Given the description of an element on the screen output the (x, y) to click on. 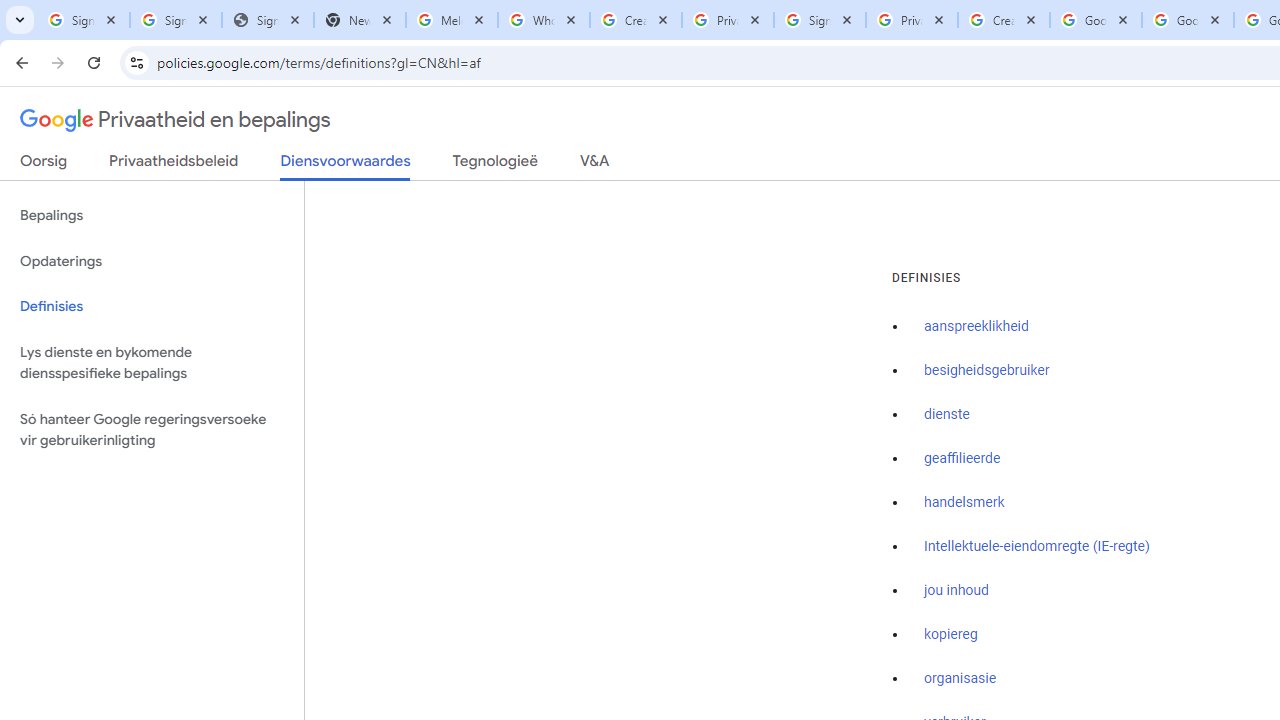
besigheidsgebruiker (986, 371)
kopiereg (950, 634)
Diensvoorwaardes (345, 166)
Opdaterings (152, 261)
Sign In - USA TODAY (267, 20)
geaffilieerde (962, 459)
